Given the description of an element on the screen output the (x, y) to click on. 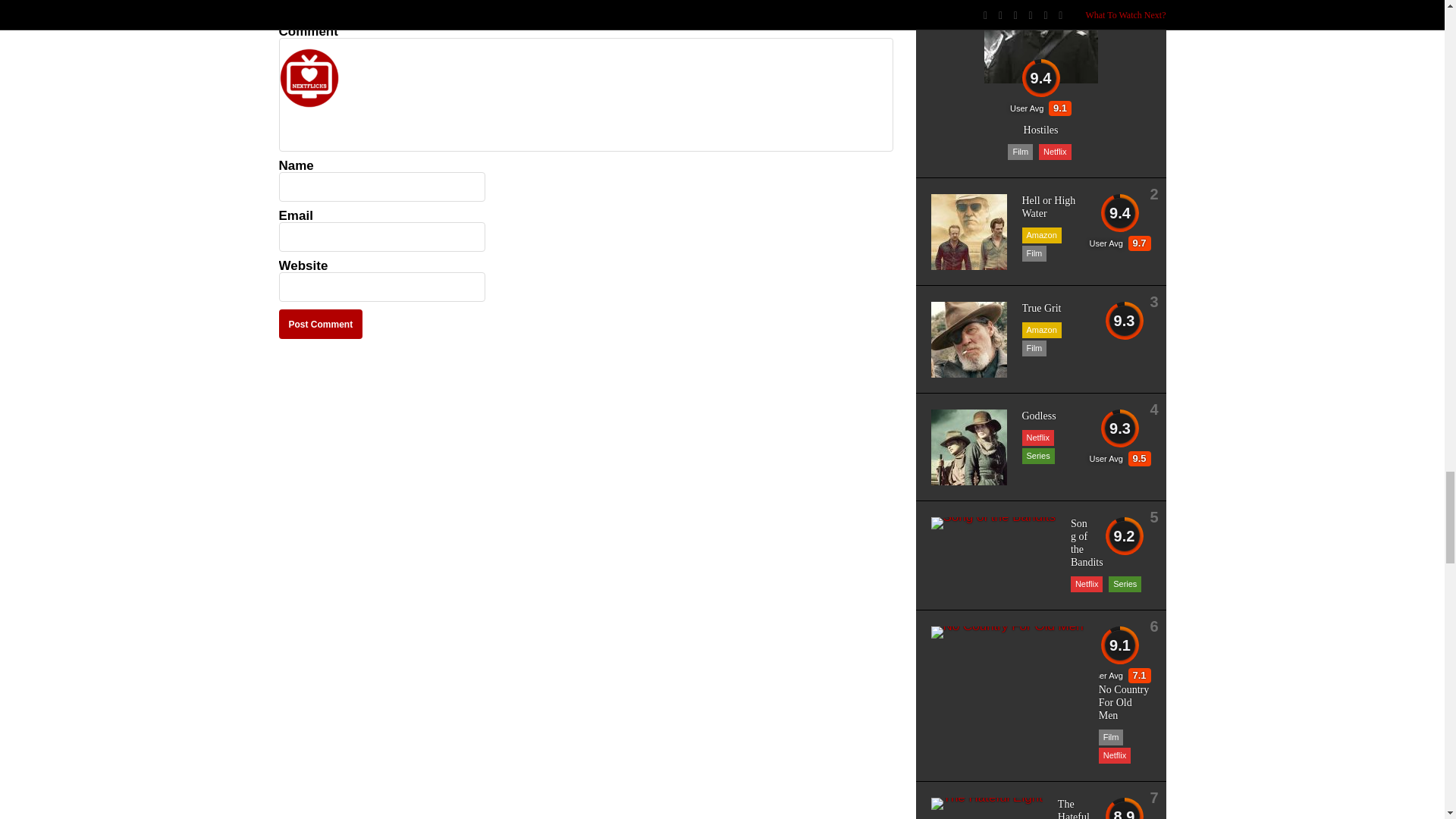
Post Comment (320, 324)
